Given the description of an element on the screen output the (x, y) to click on. 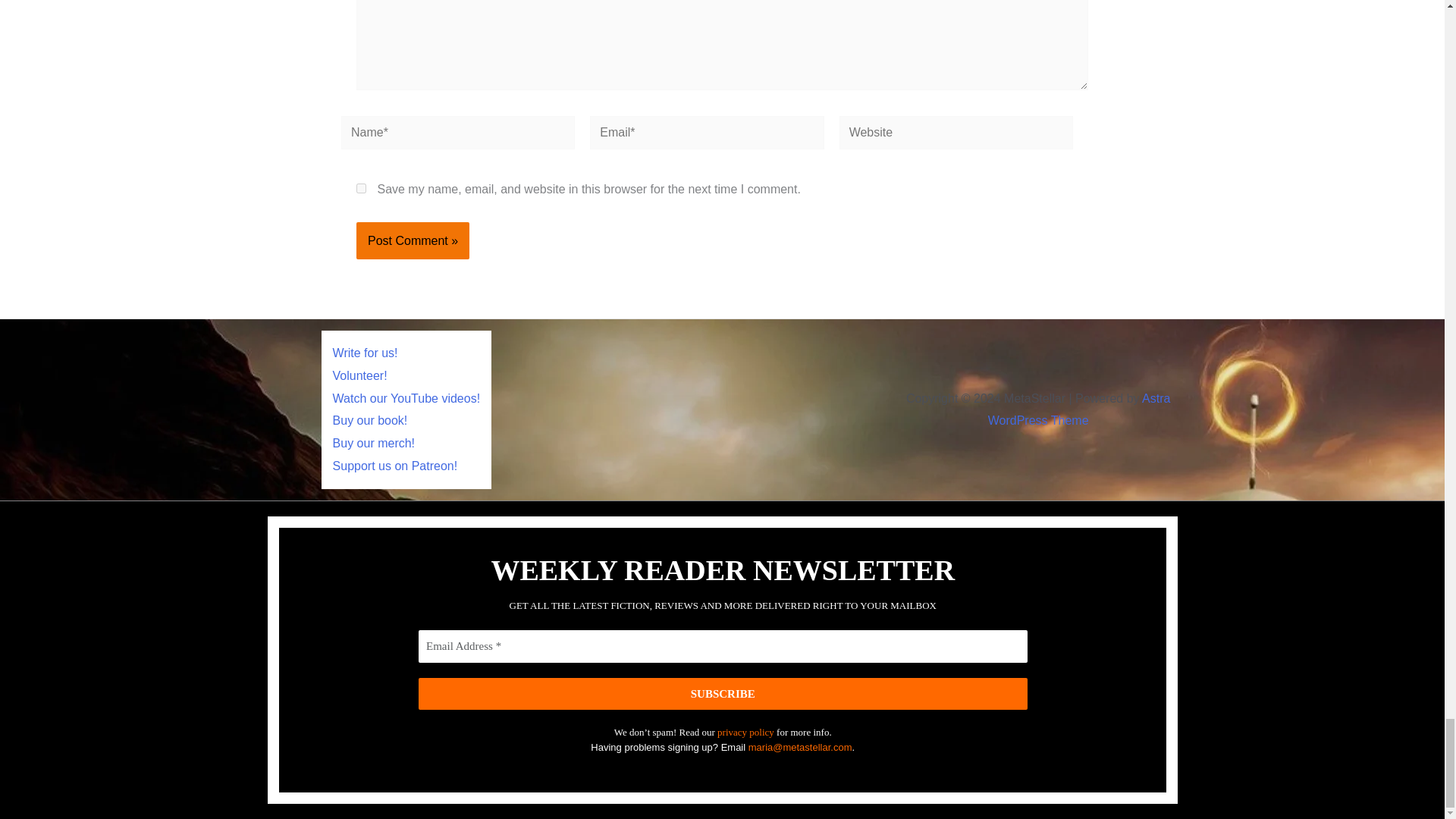
Email Address (721, 645)
SUBSCRIBE (721, 693)
yes (361, 188)
